Given the description of an element on the screen output the (x, y) to click on. 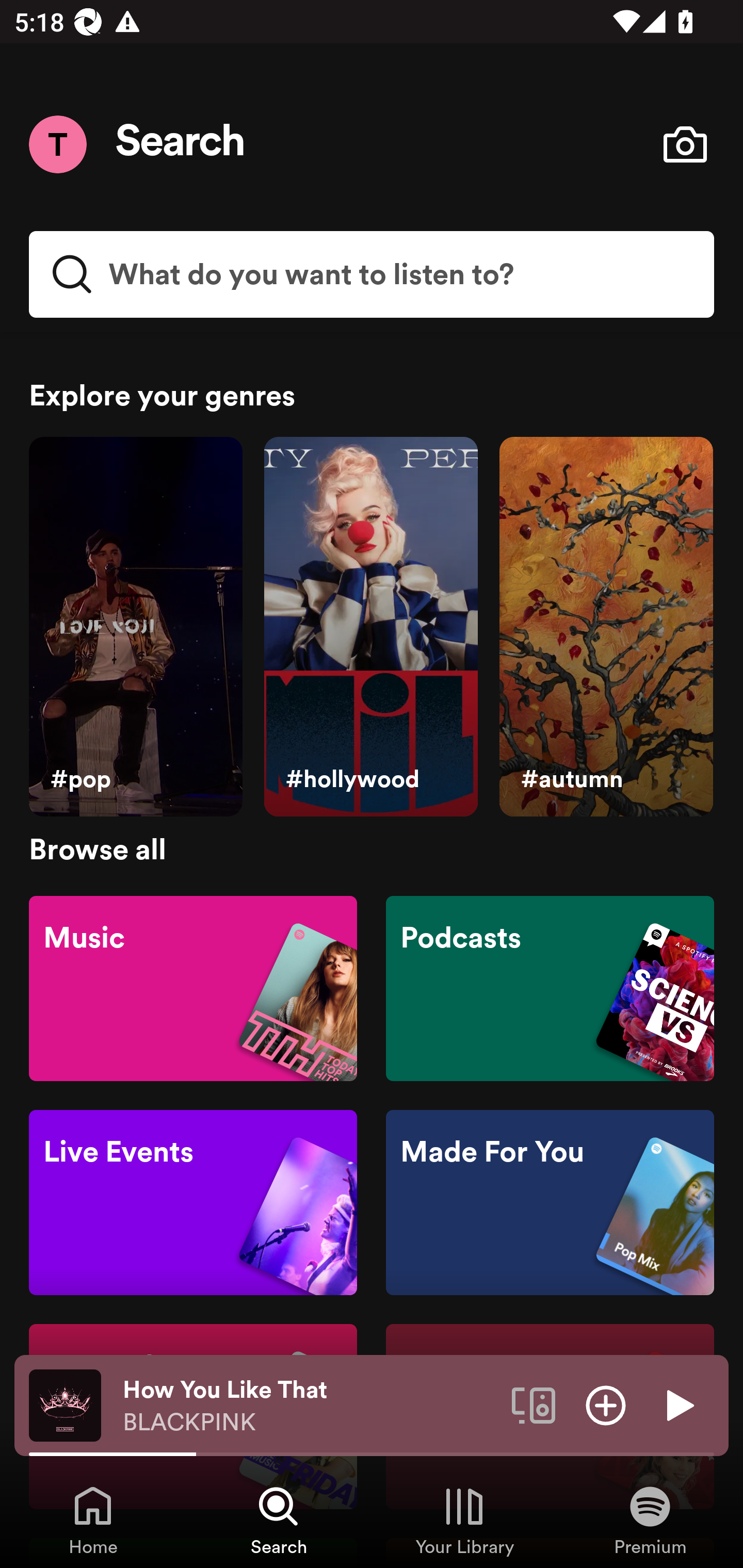
Menu (57, 144)
Open camera (685, 145)
Search (180, 144)
#pop (135, 626)
#hollywood (370, 626)
#autumn (606, 626)
Music (192, 987)
Podcasts (549, 987)
Live Events (192, 1202)
Made For You (549, 1202)
How You Like That BLACKPINK (309, 1405)
The cover art of the currently playing track (64, 1404)
Connect to a device. Opens the devices menu (533, 1404)
Add item (605, 1404)
Play (677, 1404)
Home, Tab 1 of 4 Home Home (92, 1519)
Search, Tab 2 of 4 Search Search (278, 1519)
Your Library, Tab 3 of 4 Your Library Your Library (464, 1519)
Premium, Tab 4 of 4 Premium Premium (650, 1519)
